Given the description of an element on the screen output the (x, y) to click on. 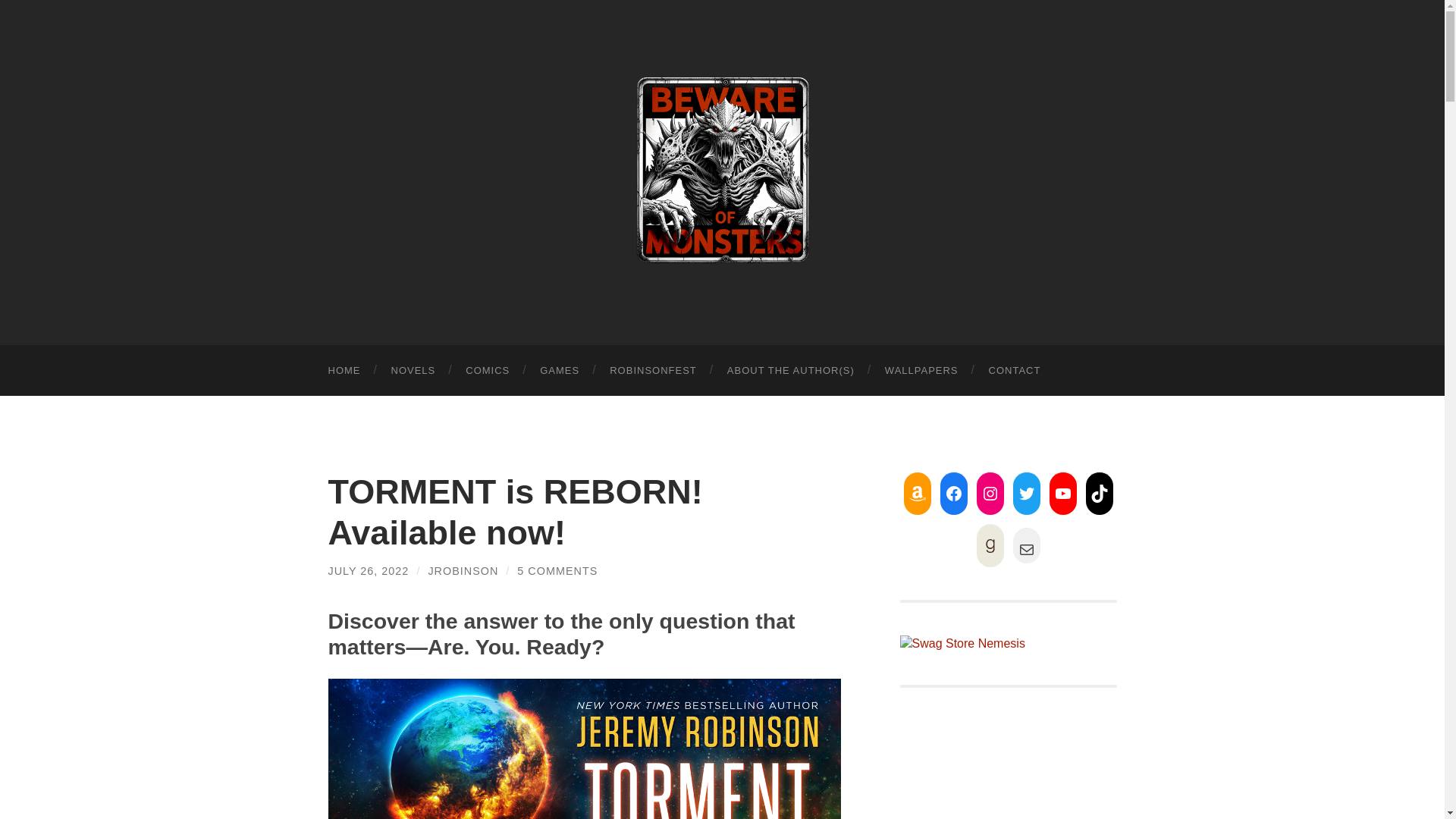
WALLPAPERS (921, 369)
My Top Videos (1007, 769)
Beware of Monsters (721, 170)
HOME (344, 369)
Posts by JRobinson (462, 571)
JROBINSON (462, 571)
ROBINSONFEST (652, 369)
5 COMMENTS (556, 571)
JULY 26, 2022 (368, 571)
